Given the description of an element on the screen output the (x, y) to click on. 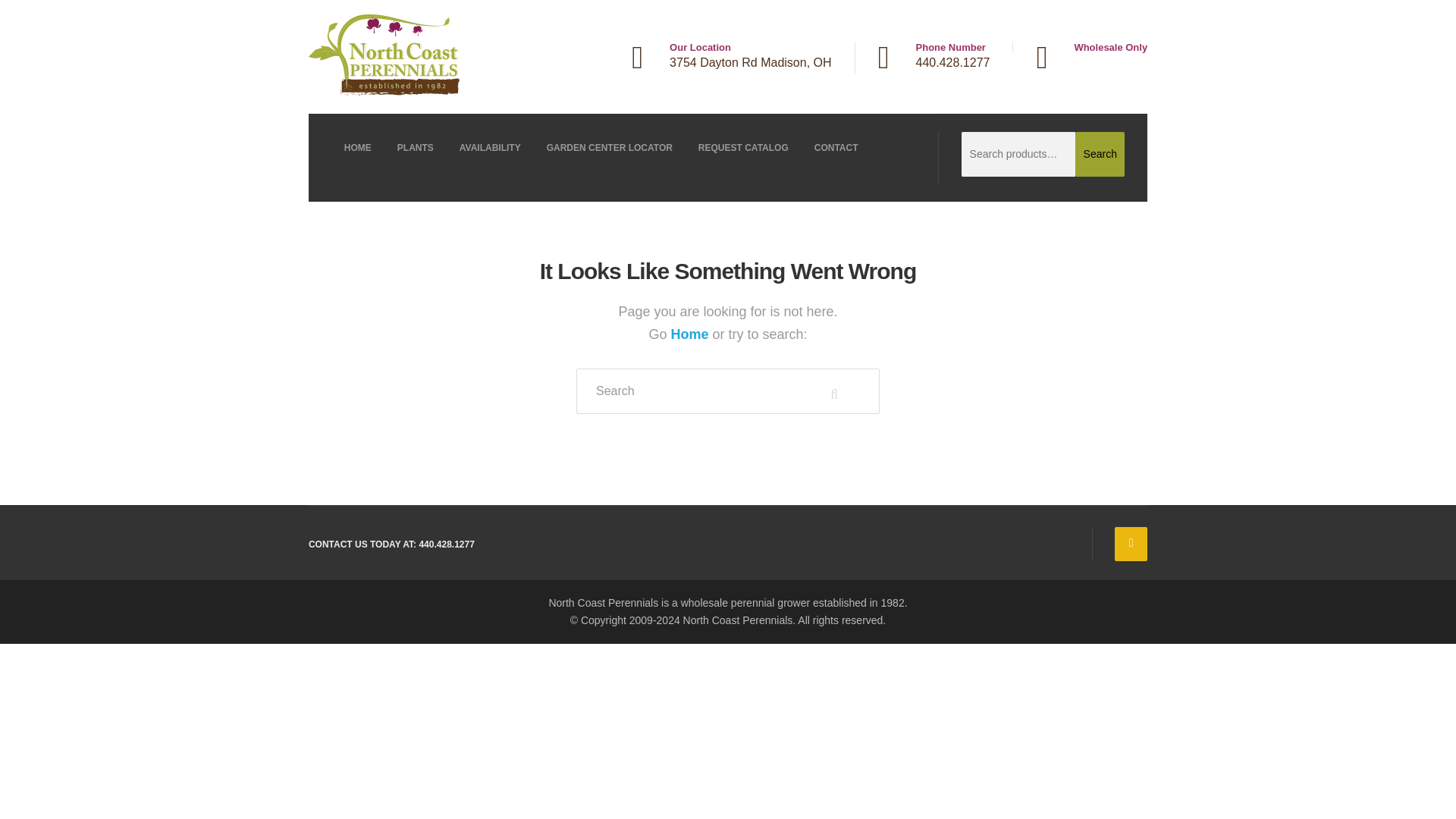
AVAILABILITY (490, 147)
Search (1099, 154)
Home (690, 334)
Wholesale Only (1079, 47)
REQUEST CATALOG (743, 147)
PLANTS (415, 147)
GARDEN CENTER LOCATOR (609, 147)
CONTACT (836, 147)
